Given the description of an element on the screen output the (x, y) to click on. 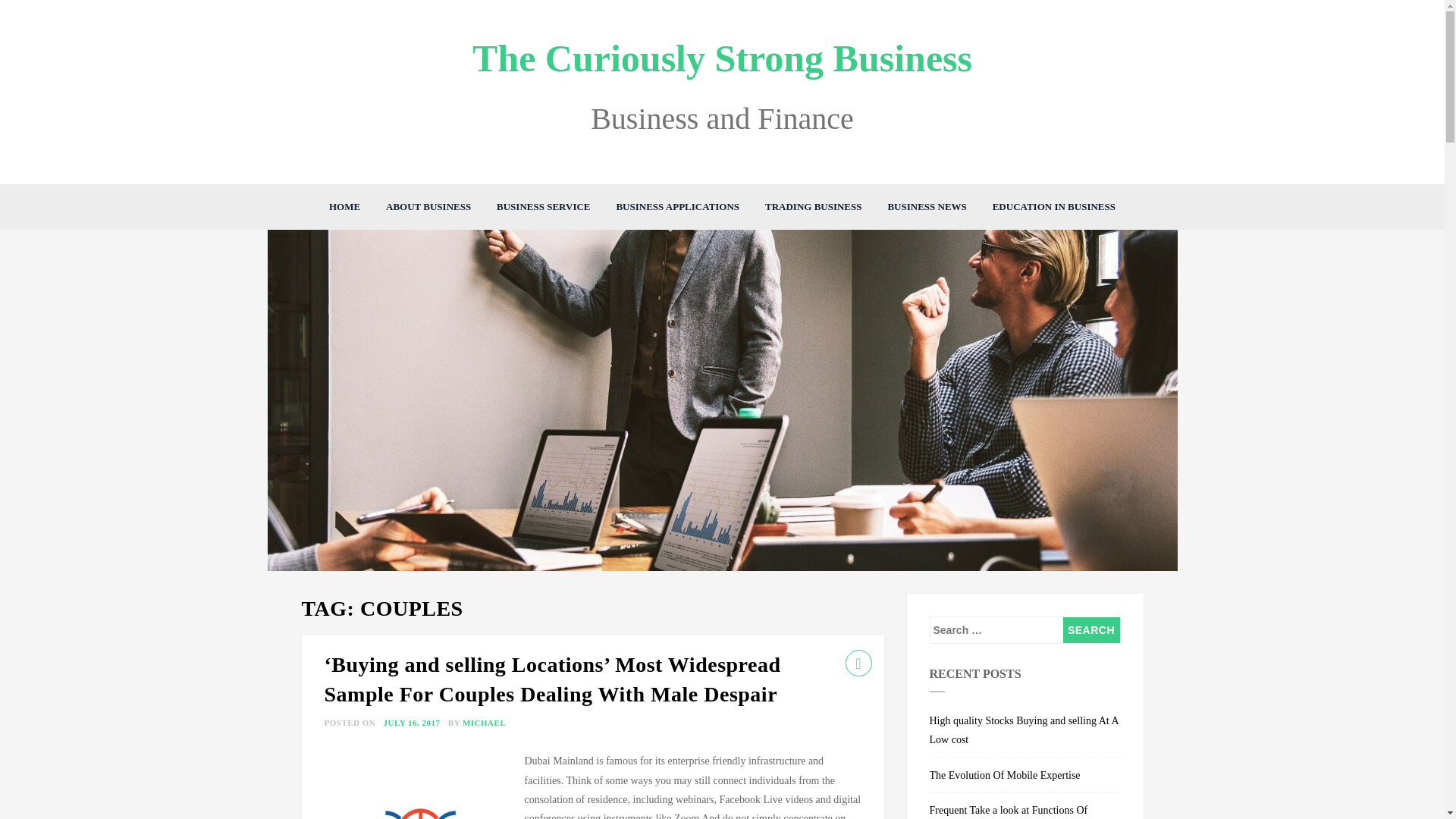
HOME (344, 207)
The Curiously Strong Business (721, 57)
Search (1090, 629)
The Evolution Of Mobile Expertise (1025, 775)
TRADING BUSINESS (813, 207)
Search (1090, 629)
BUSINESS NEWS (926, 207)
Search (1090, 629)
BUSINESS SERVICE (542, 207)
